Given the description of an element on the screen output the (x, y) to click on. 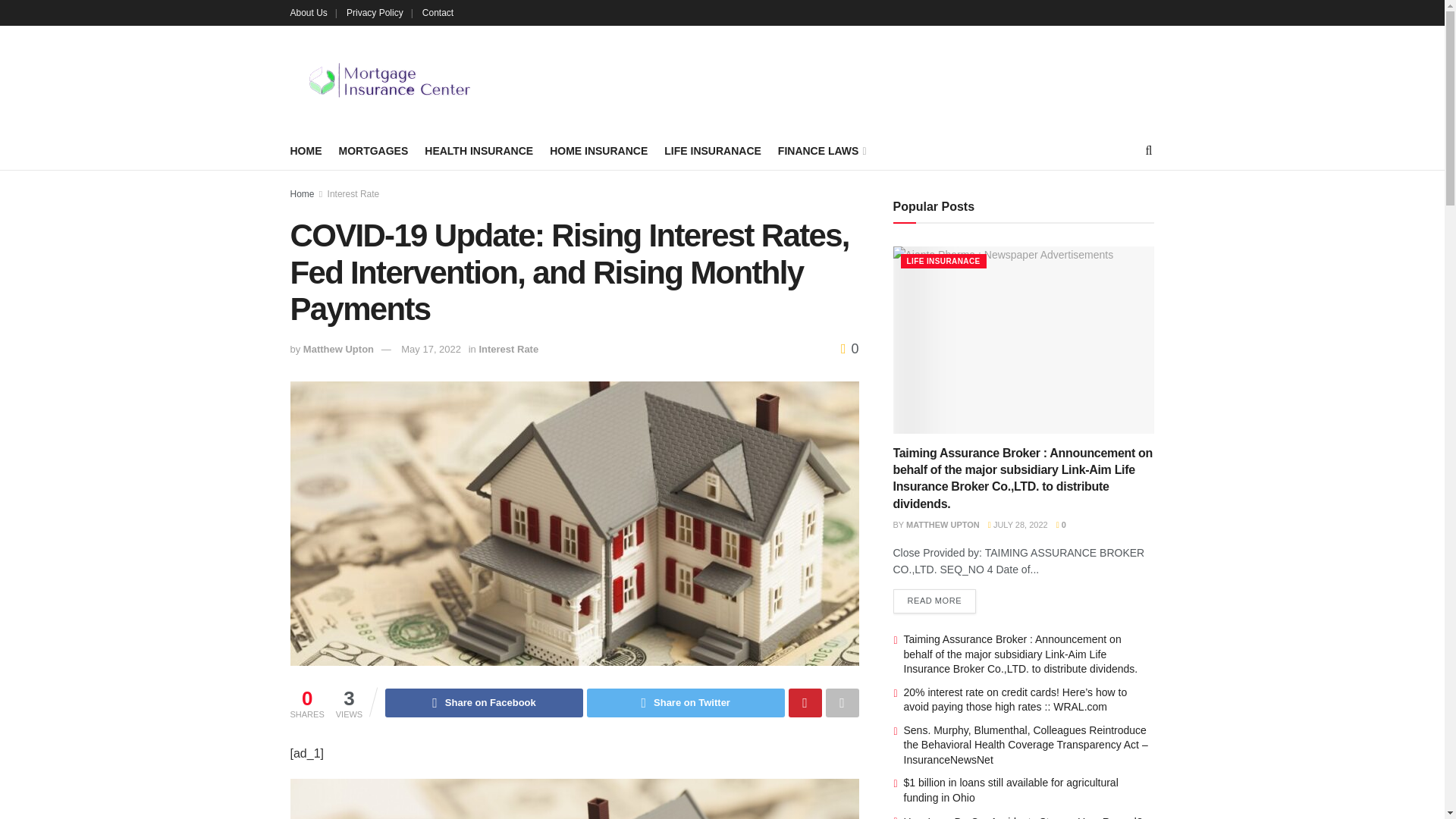
MORTGAGES (372, 150)
About Us (312, 12)
HOME INSURANCE (598, 150)
May 17, 2022 (431, 348)
Interest Rate (508, 348)
Matthew Upton (338, 348)
Contact (437, 12)
Share on Facebook (484, 702)
FINANCE LAWS (820, 150)
0 (850, 348)
Home (301, 194)
HEALTH INSURANCE (478, 150)
LIFE INSURANACE (712, 150)
Privacy Policy (379, 12)
HOME (305, 150)
